Given the description of an element on the screen output the (x, y) to click on. 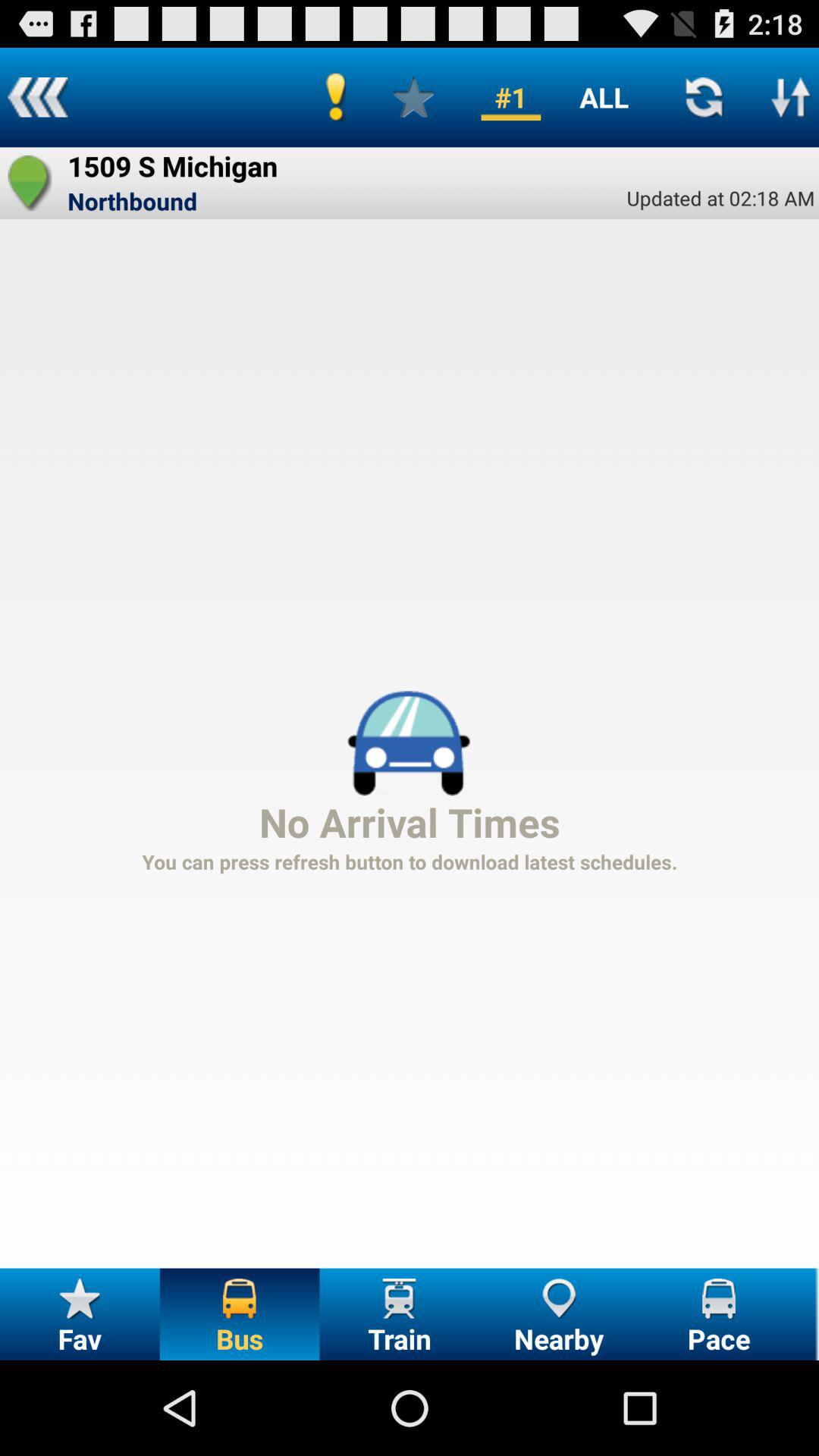
refresh schedule (703, 97)
